Given the description of an element on the screen output the (x, y) to click on. 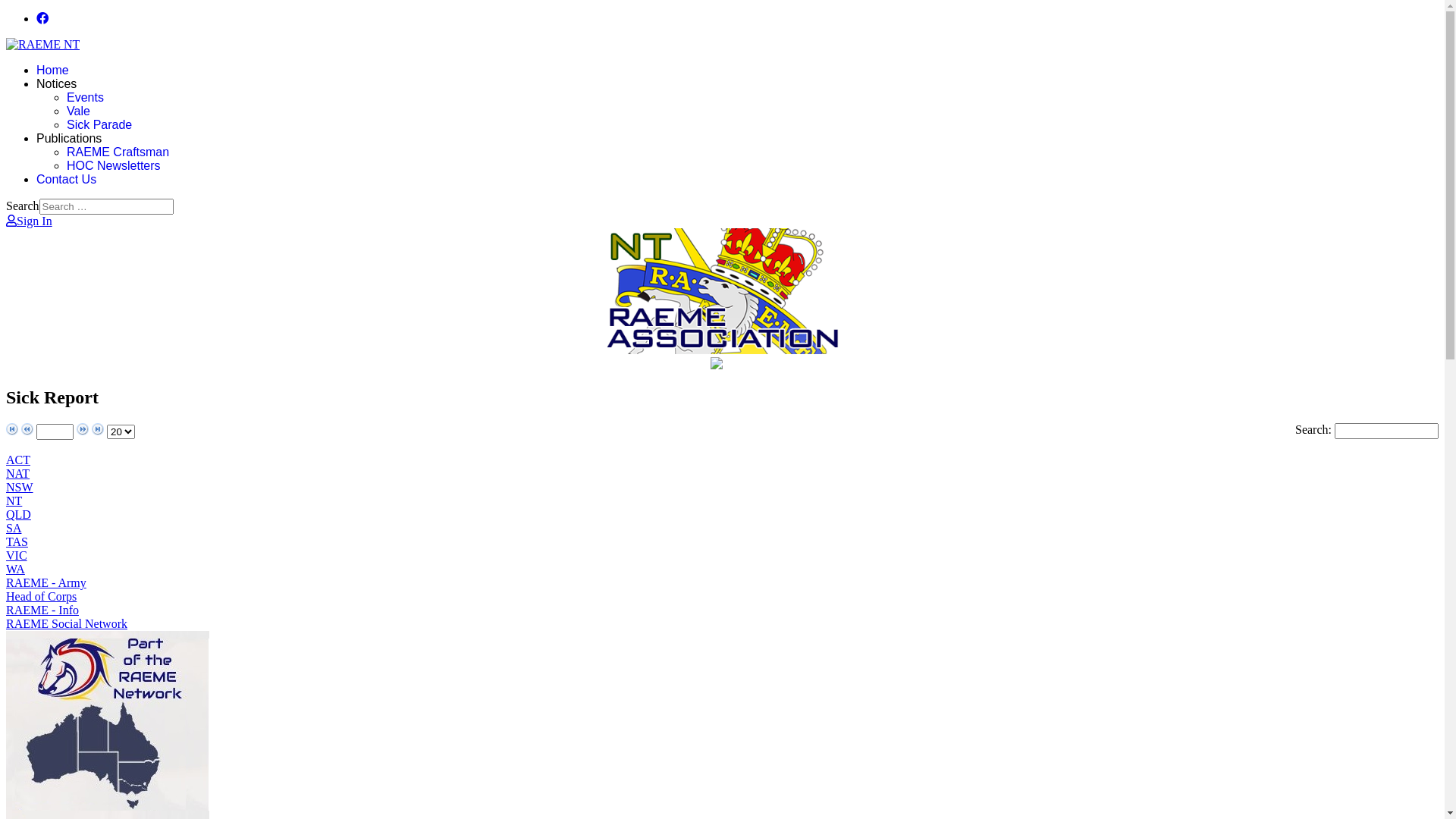
Vale Element type: text (78, 110)
Clear Element type: text (18, 7)
RAEME - Info Element type: text (42, 609)
NSW Element type: text (19, 486)
ACT Element type: text (18, 459)
Head of Corps Element type: text (41, 595)
Contact Us Element type: text (66, 178)
RAEME Craftsman Element type: text (117, 151)
Home Element type: text (52, 69)
WA Element type: text (15, 568)
SA Element type: text (13, 527)
RAEME Social Network Element type: text (66, 623)
VIC Element type: text (16, 555)
NT Element type: text (13, 500)
NAT Element type: text (17, 473)
Events Element type: text (84, 97)
Sick Parade Element type: text (98, 124)
TAS Element type: text (17, 541)
RAEME - Army Element type: text (46, 582)
QLD Element type: text (18, 514)
HOC Newsletters Element type: text (113, 165)
Sign In Element type: text (29, 220)
